Given the description of an element on the screen output the (x, y) to click on. 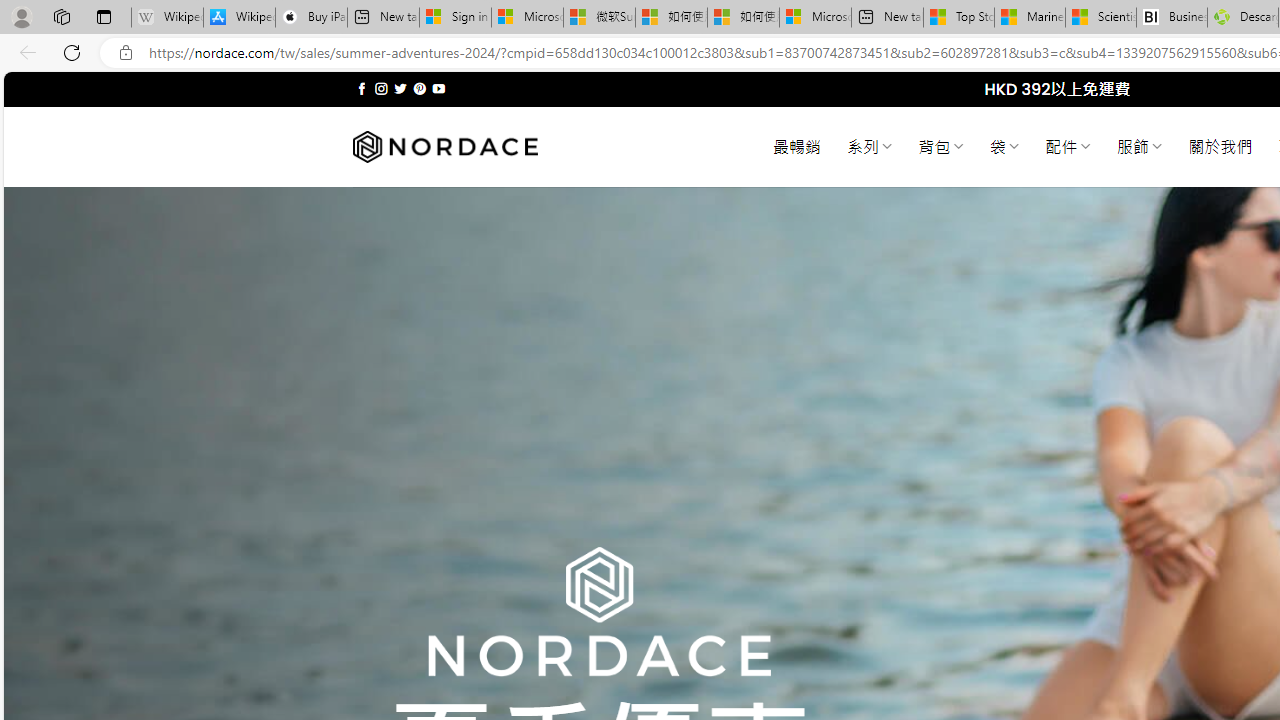
Follow on Facebook (361, 88)
Buy iPad - Apple (311, 17)
Follow on Pinterest (419, 88)
Follow on YouTube (438, 88)
